Given the description of an element on the screen output the (x, y) to click on. 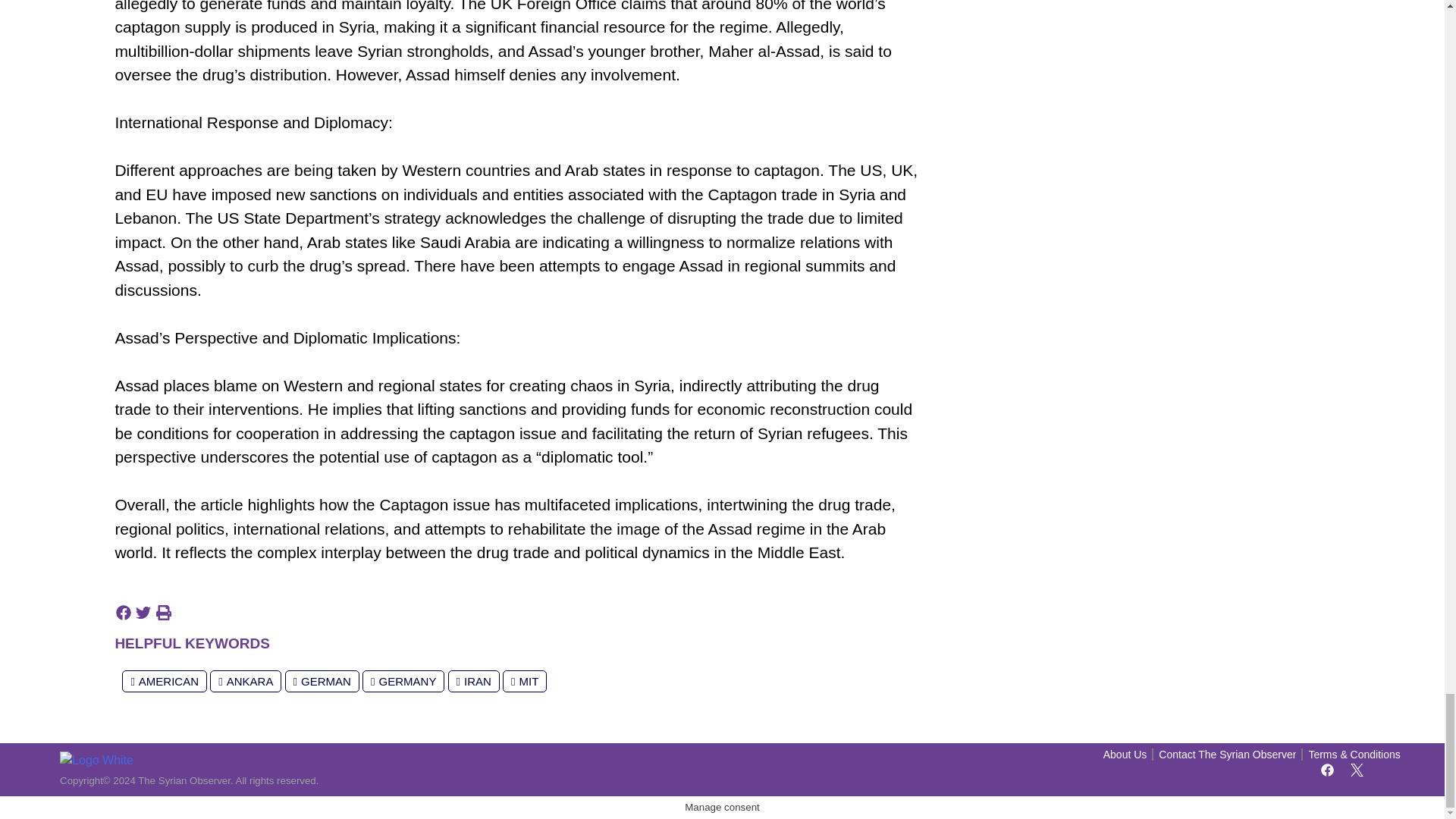
IRAN (473, 681)
MIT (524, 681)
AMERICAN (164, 681)
GERMAN (322, 681)
GERMANY (403, 681)
ANKARA (245, 681)
